Given the description of an element on the screen output the (x, y) to click on. 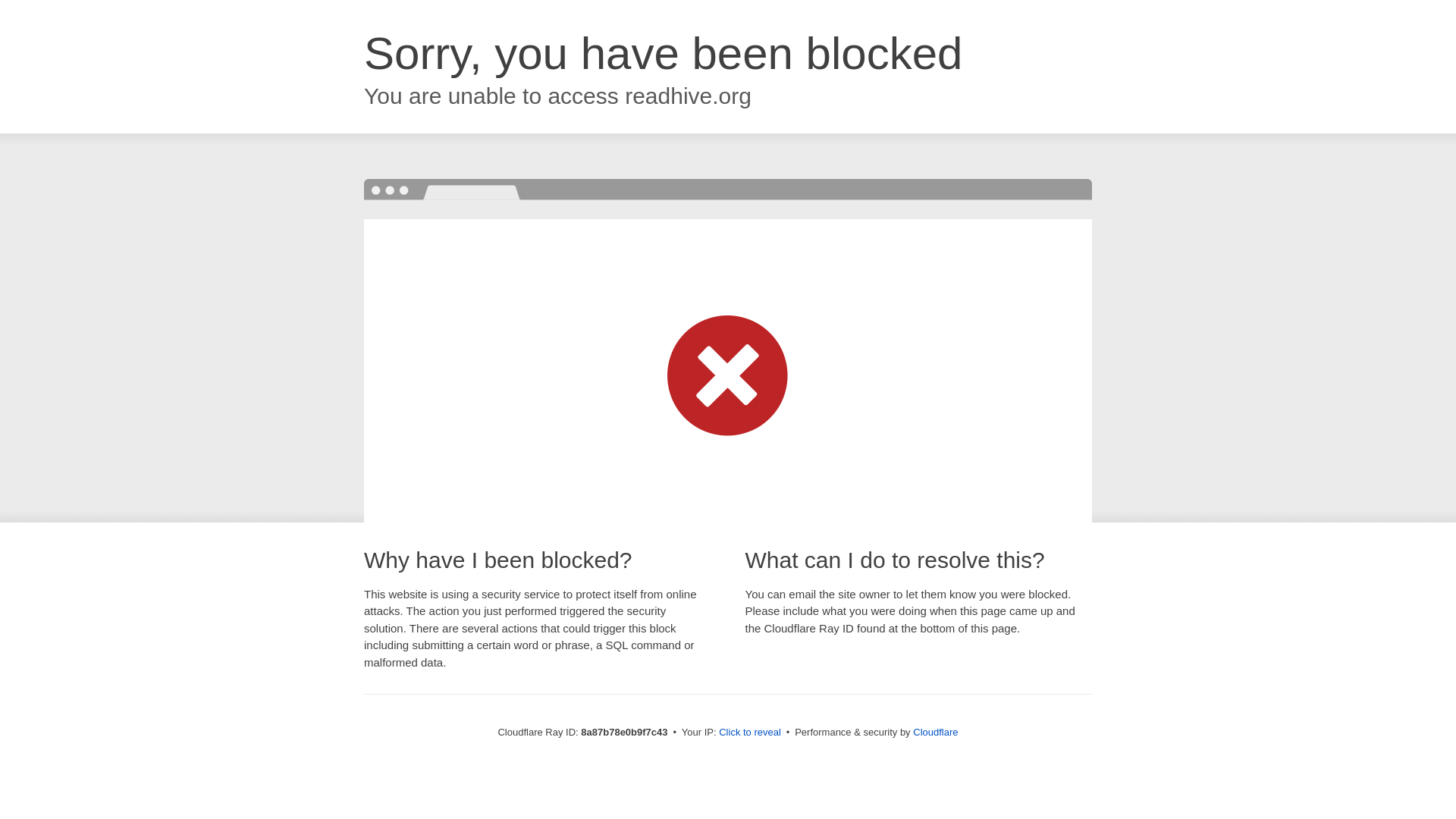
Click to reveal (749, 732)
Cloudflare (935, 731)
